Given the description of an element on the screen output the (x, y) to click on. 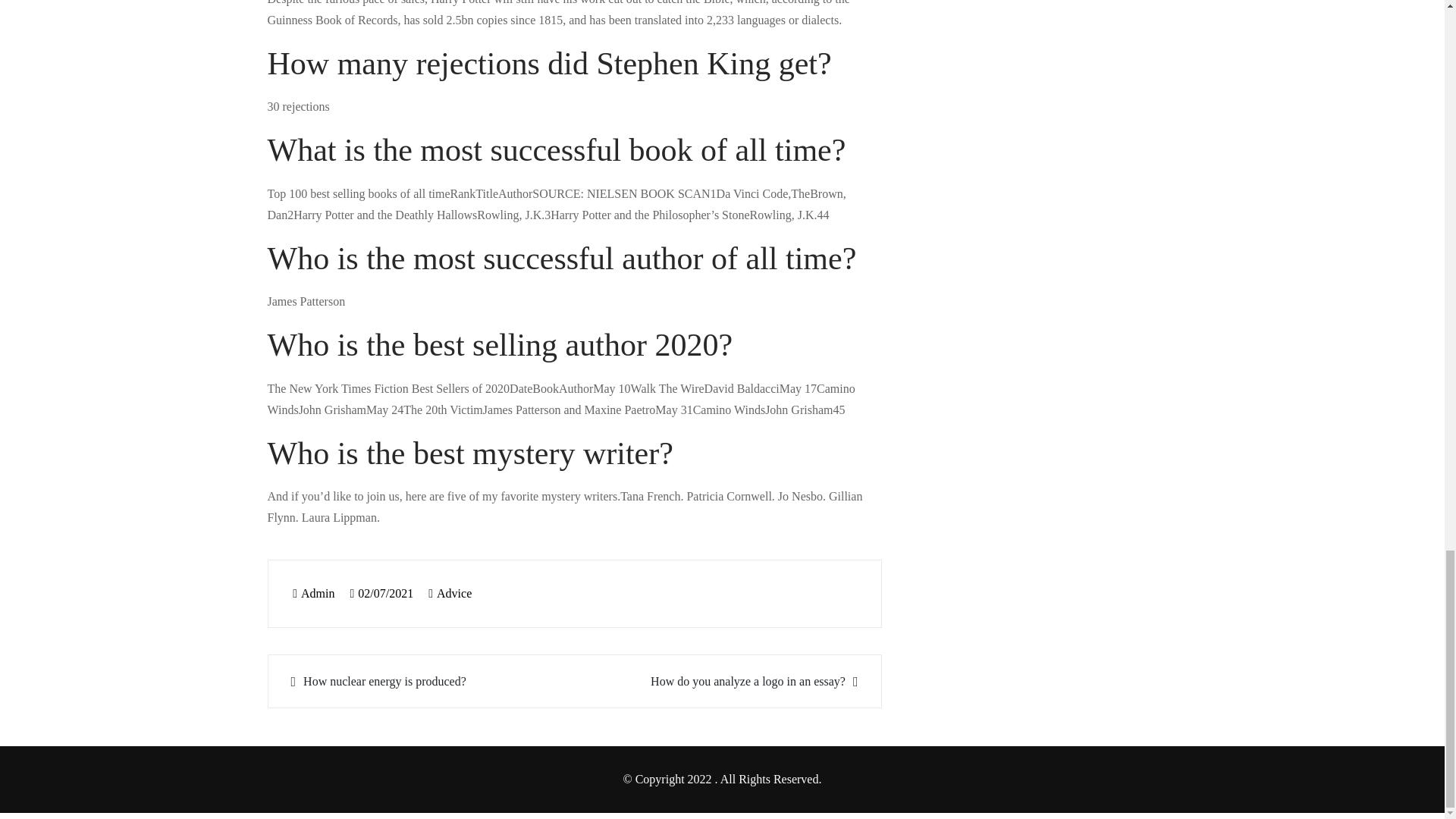
How nuclear energy is produced? (423, 681)
Admin (313, 593)
Advice (453, 593)
